Given the description of an element on the screen output the (x, y) to click on. 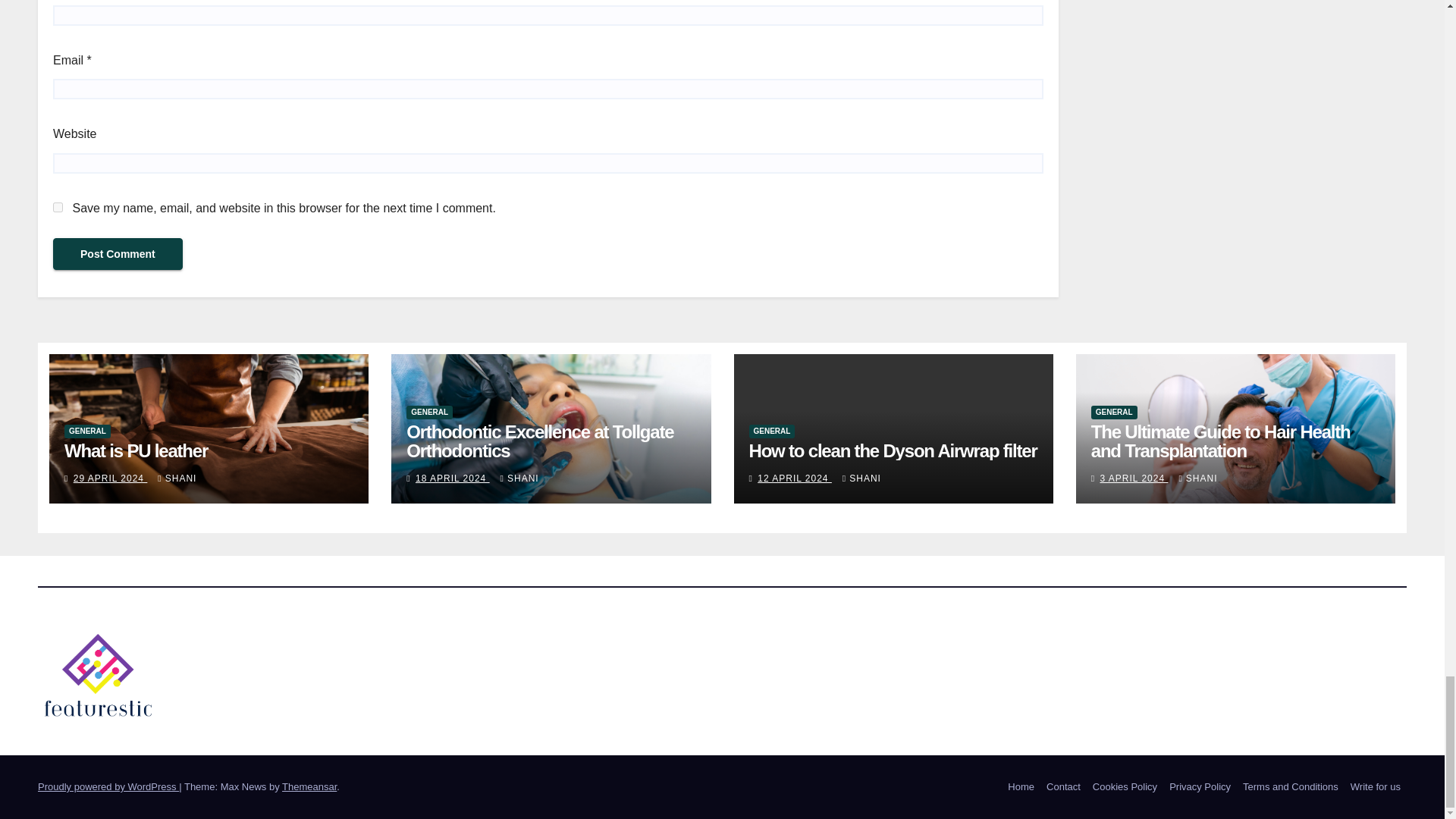
yes (57, 207)
Post Comment (117, 254)
